Given the description of an element on the screen output the (x, y) to click on. 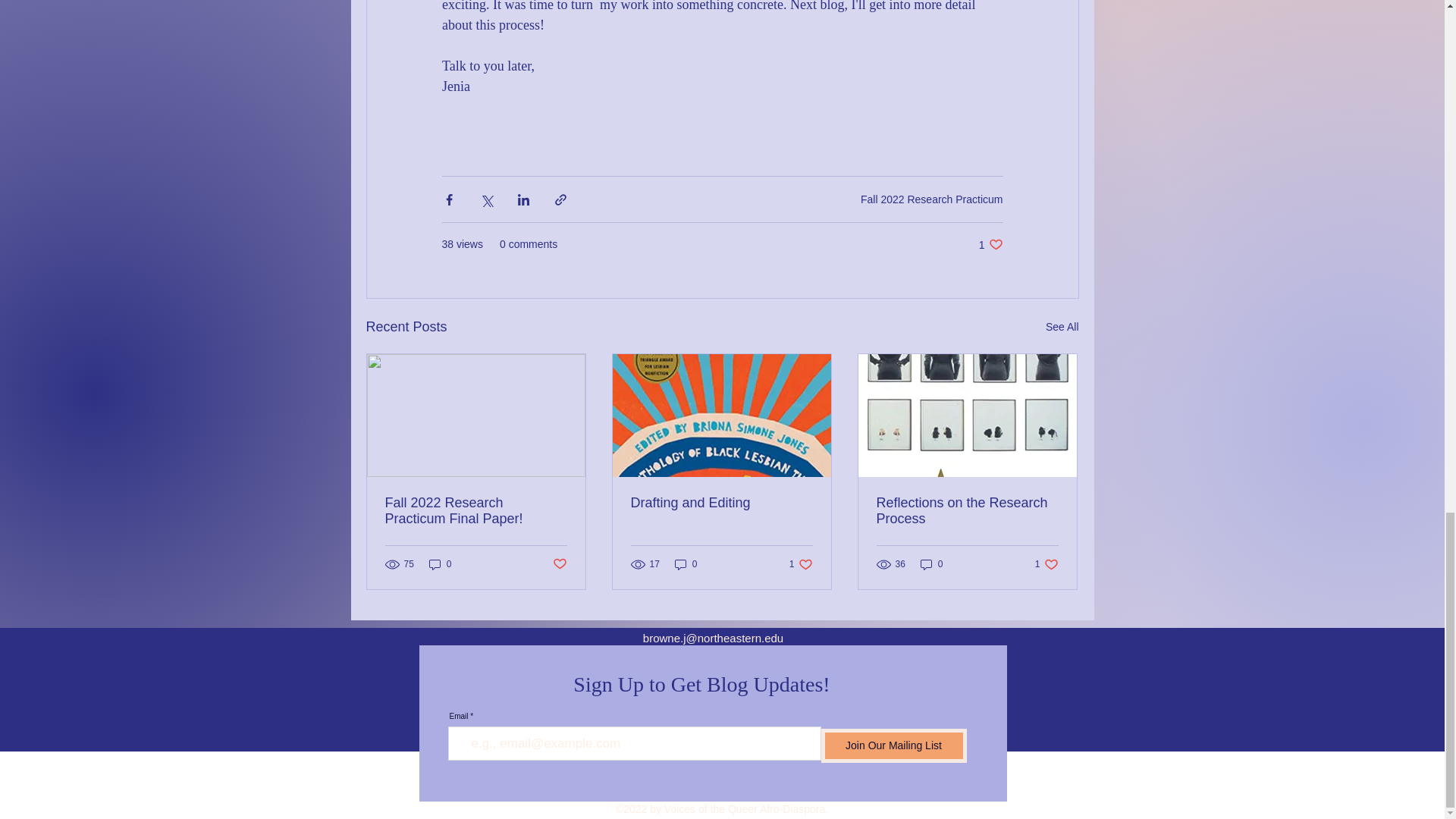
Drafting and Editing (990, 244)
See All (721, 503)
Fall 2022 Research Practicum Final Paper! (1061, 327)
0 (800, 563)
Join Our Mailing List (476, 511)
0 (685, 563)
Post not marked as liked (893, 745)
0 (931, 563)
